Given the description of an element on the screen output the (x, y) to click on. 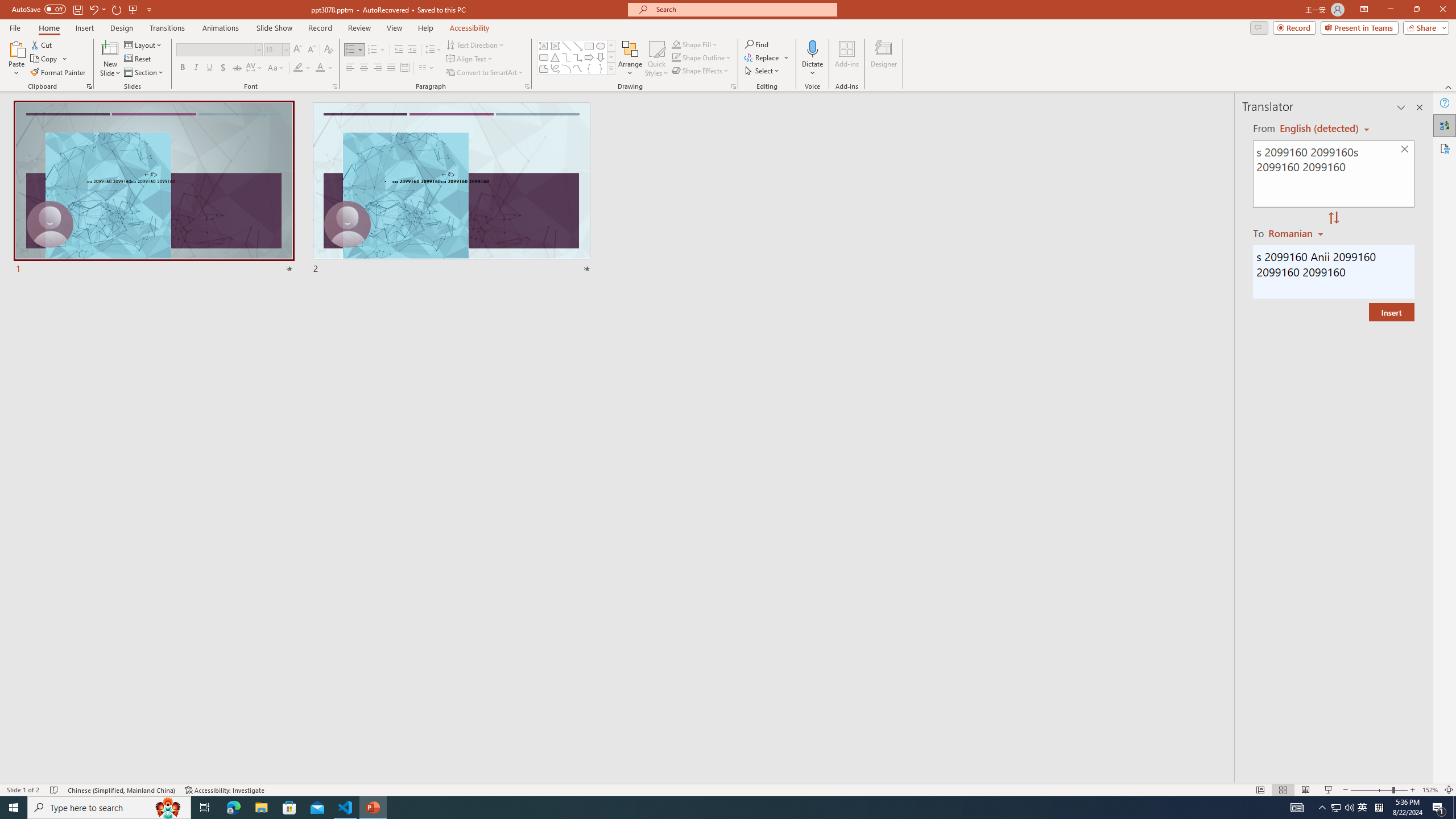
Czech (detected) (1319, 128)
